Given the description of an element on the screen output the (x, y) to click on. 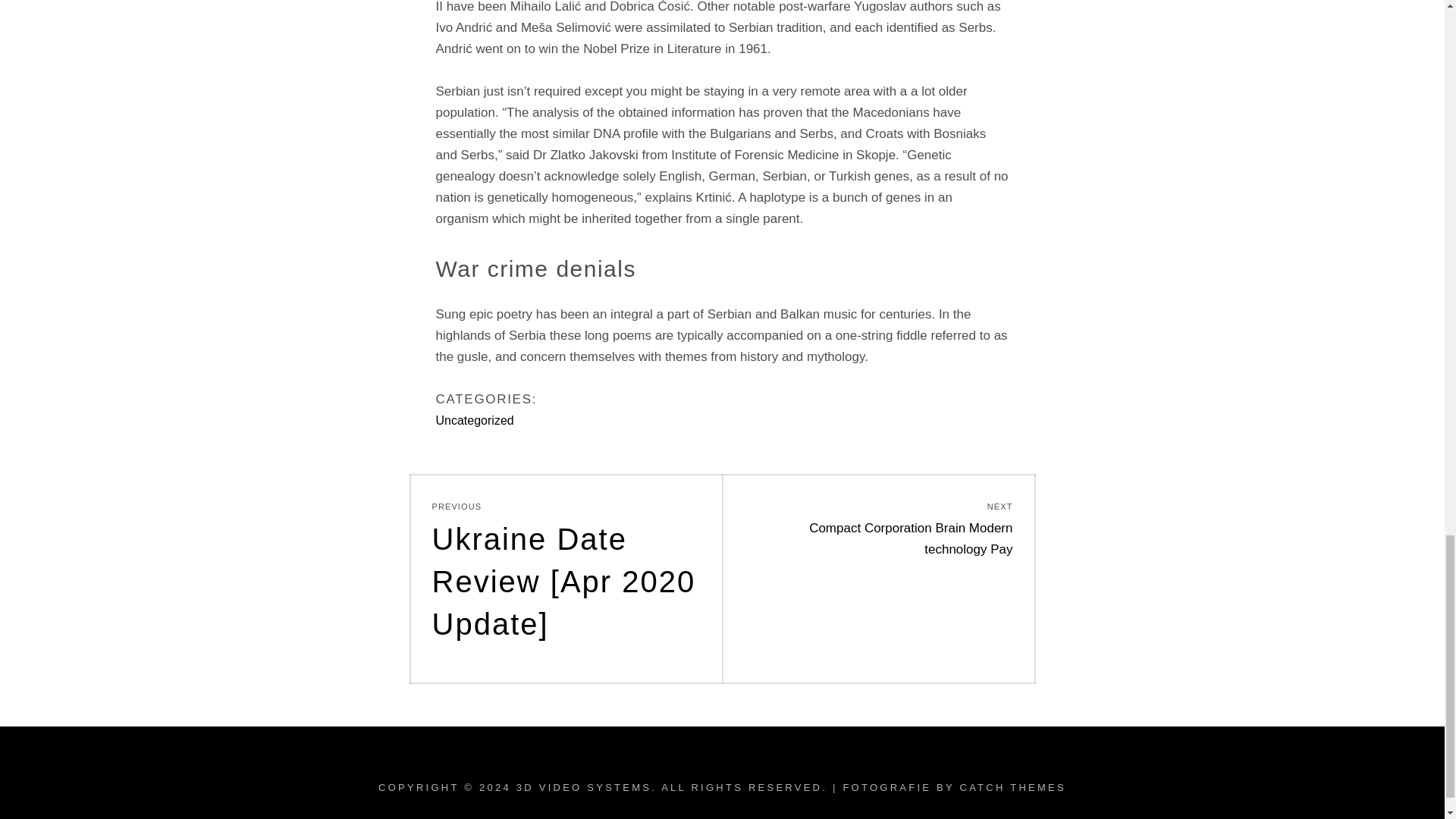
Uncategorized (474, 420)
3D VIDEO SYSTEMS (583, 787)
CATCH THEMES (1012, 787)
